Given the description of an element on the screen output the (x, y) to click on. 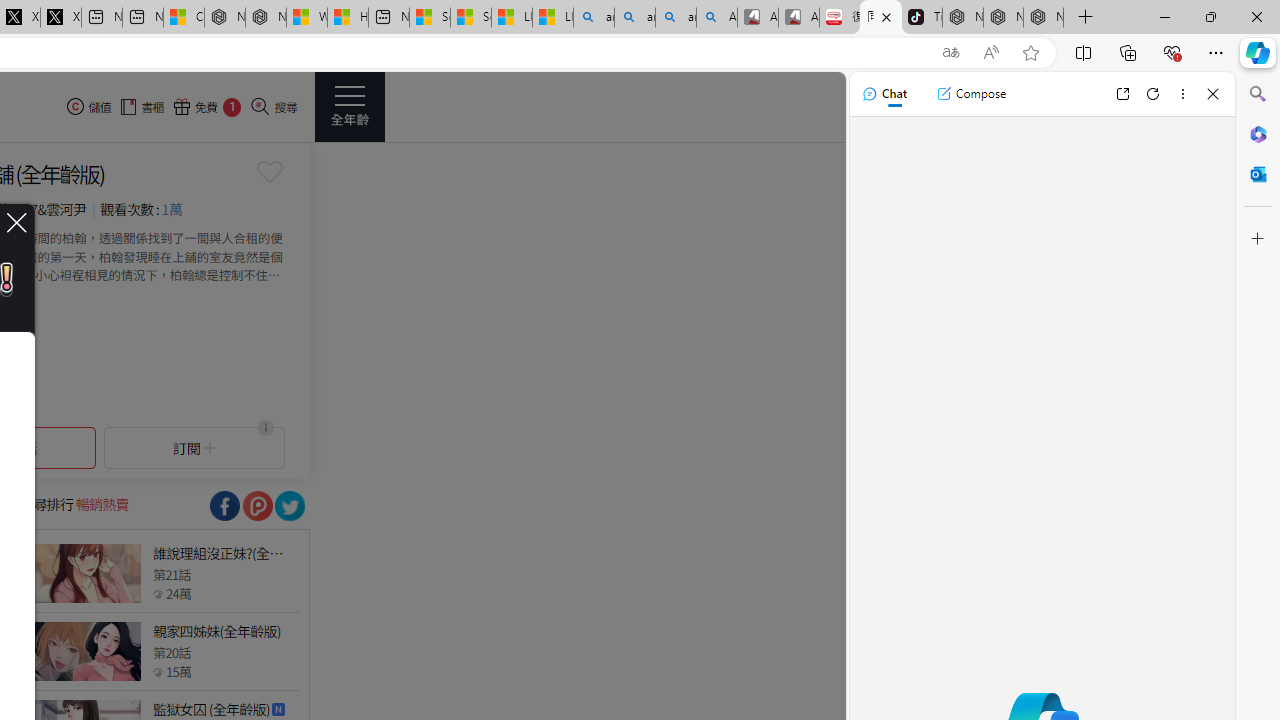
amazon - Search (634, 17)
Microsoft 365 (1258, 133)
More options (1182, 93)
Read aloud this page (Ctrl+Shift+U) (991, 53)
X (60, 17)
Class: thumb_img (85, 651)
Add this page to favorites (Ctrl+D) (1030, 53)
Refresh (1153, 93)
Class: side_menu_btn actionRightMenuBtn (349, 106)
